Given the description of an element on the screen output the (x, y) to click on. 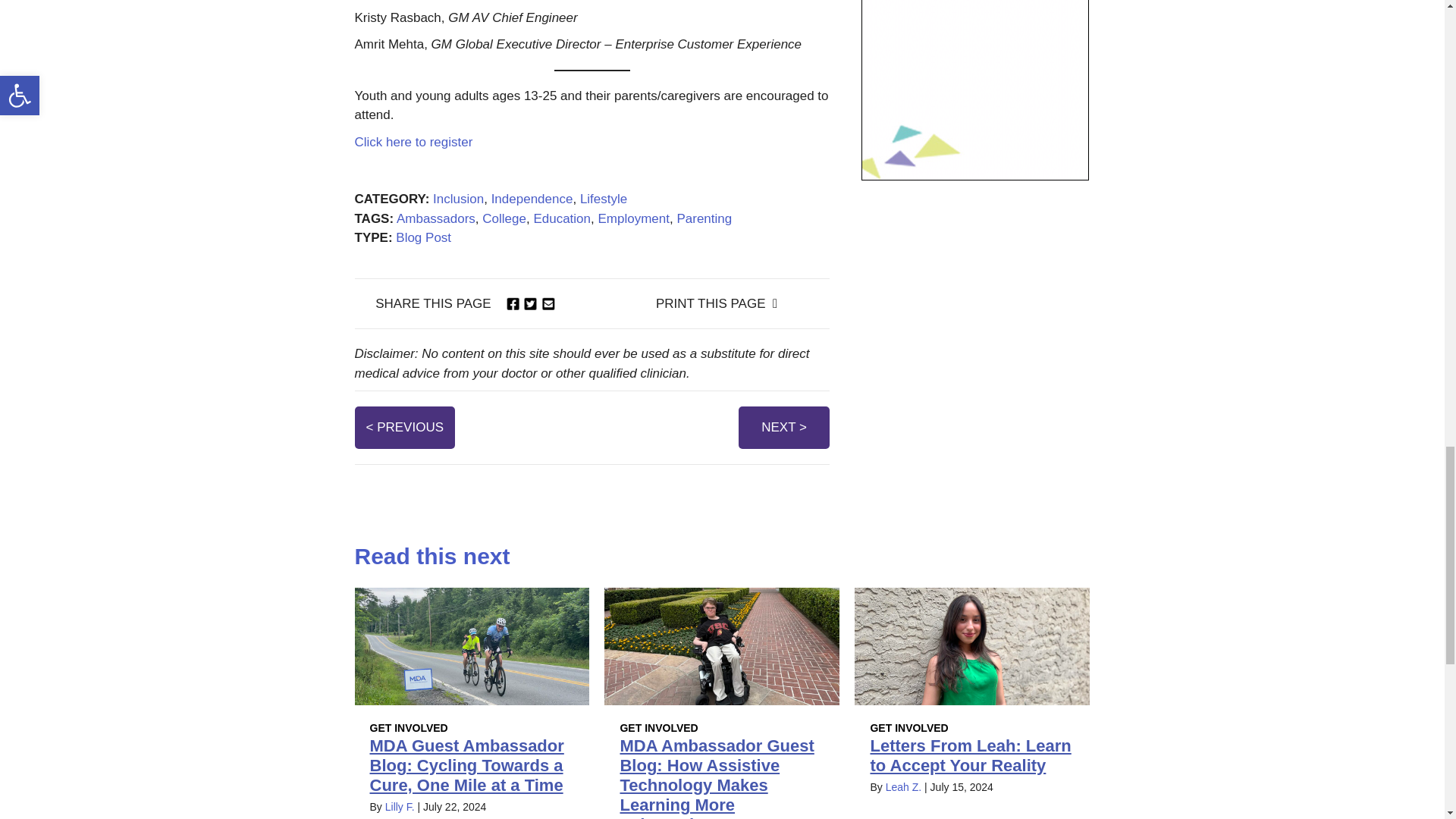
3rd party ad content (975, 90)
